Given the description of an element on the screen output the (x, y) to click on. 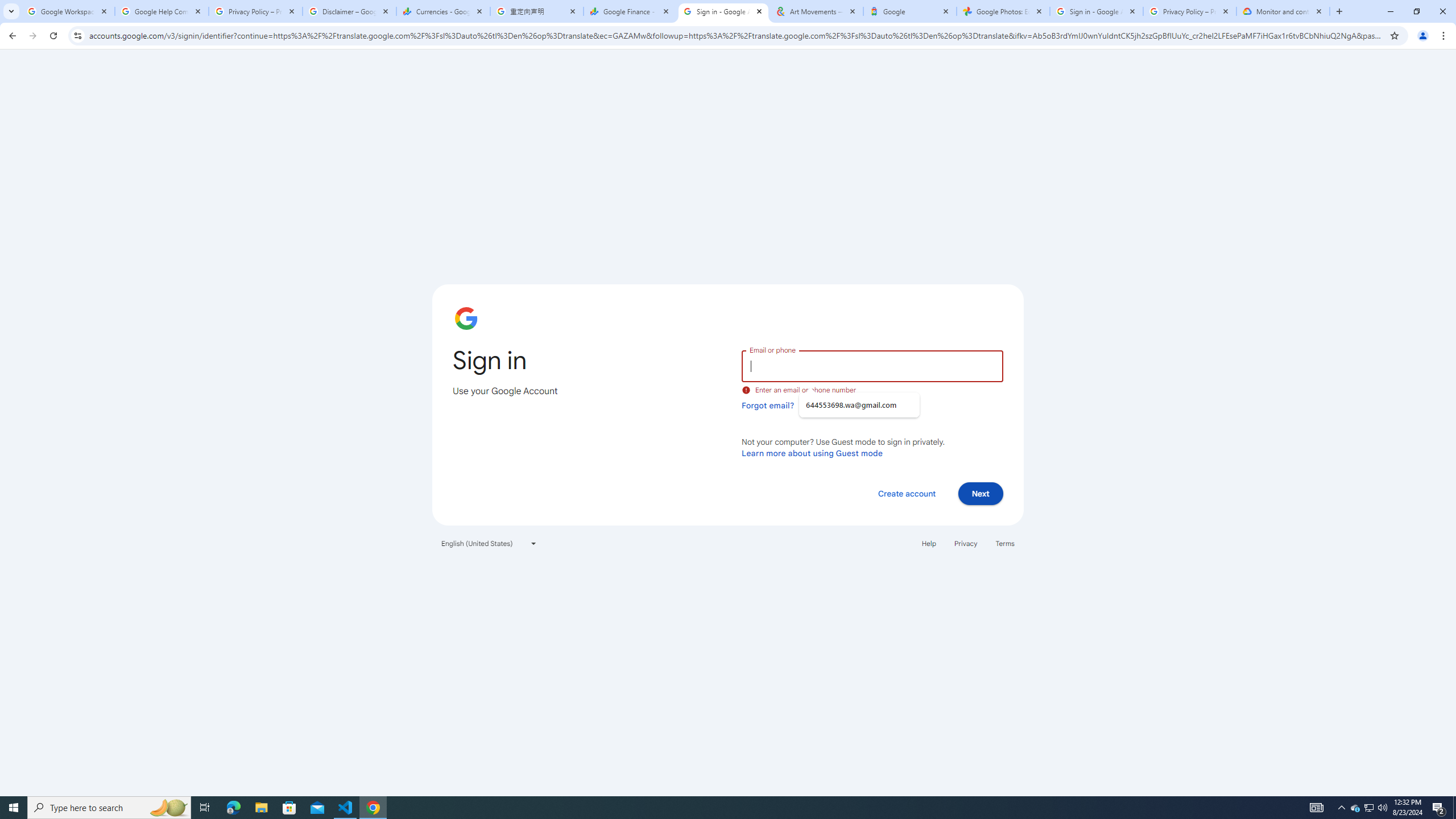
Sign in - Google Accounts (1096, 11)
Forgot email? (767, 404)
Create account (905, 493)
English (United States) (489, 542)
644553698.wa@gmail.com (858, 404)
Google (909, 11)
